Given the description of an element on the screen output the (x, y) to click on. 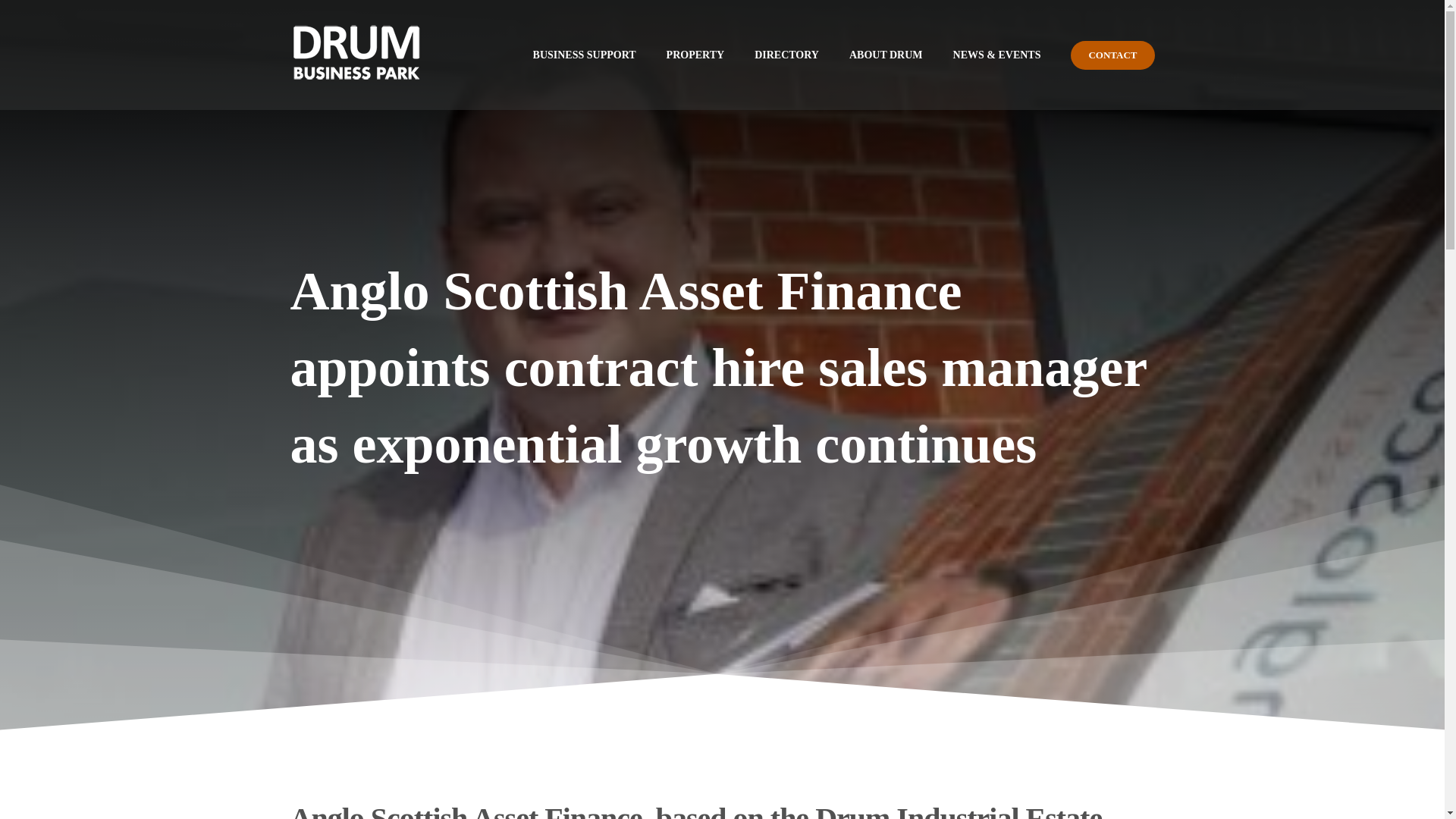
CONTACT (1112, 54)
ABOUT DRUM (885, 54)
PROPERTY (695, 54)
DIRECTORY (786, 54)
BUSINESS SUPPORT (584, 54)
